Given the description of an element on the screen output the (x, y) to click on. 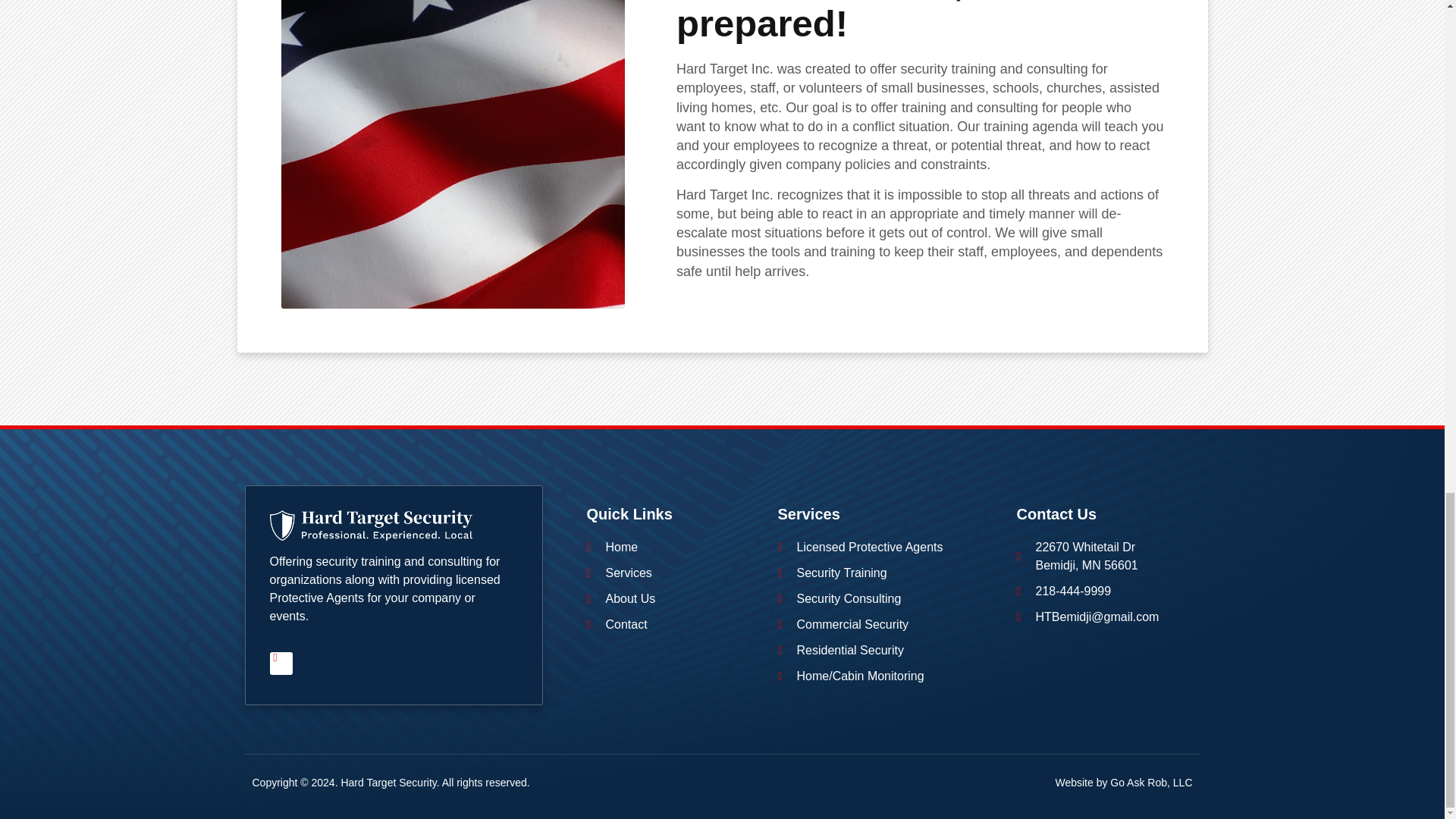
Licensed Protective Agents (889, 547)
Home (674, 547)
Website by Go Ask Rob, LLC (1123, 782)
Contact (674, 624)
Security Training (889, 573)
Commercial Security (889, 624)
Residential Security (889, 650)
About Us (674, 598)
Services (674, 573)
Security Consulting (889, 598)
